Given the description of an element on the screen output the (x, y) to click on. 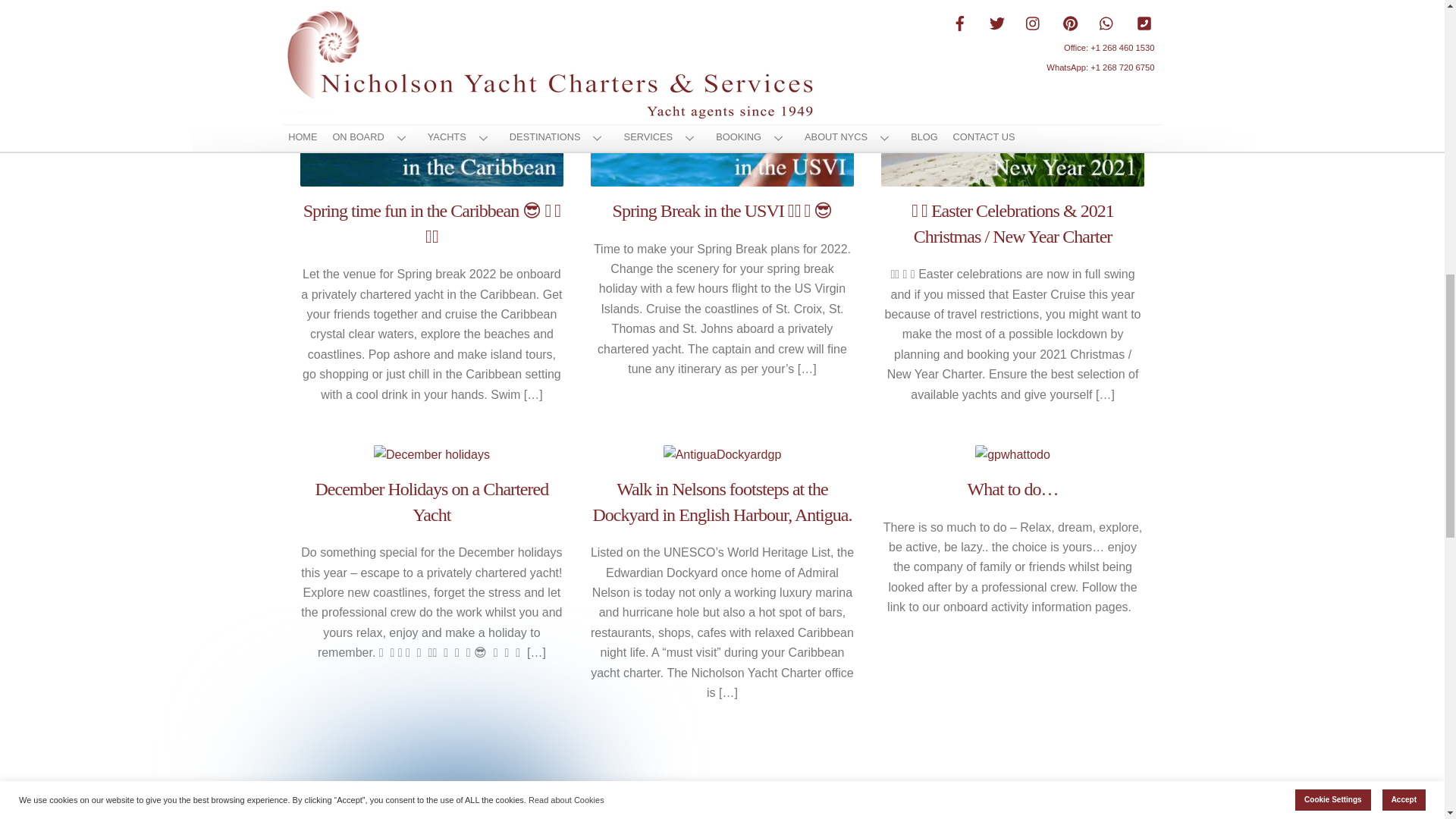
gpwhattodo (1012, 455)
December holidays (431, 455)
AntiguaDockyardgp (722, 455)
Spring-time-fun (431, 93)
Kajak (431, 780)
xmas2021 (1012, 93)
springbreak-intheUSVI (722, 93)
